Given the description of an element on the screen output the (x, y) to click on. 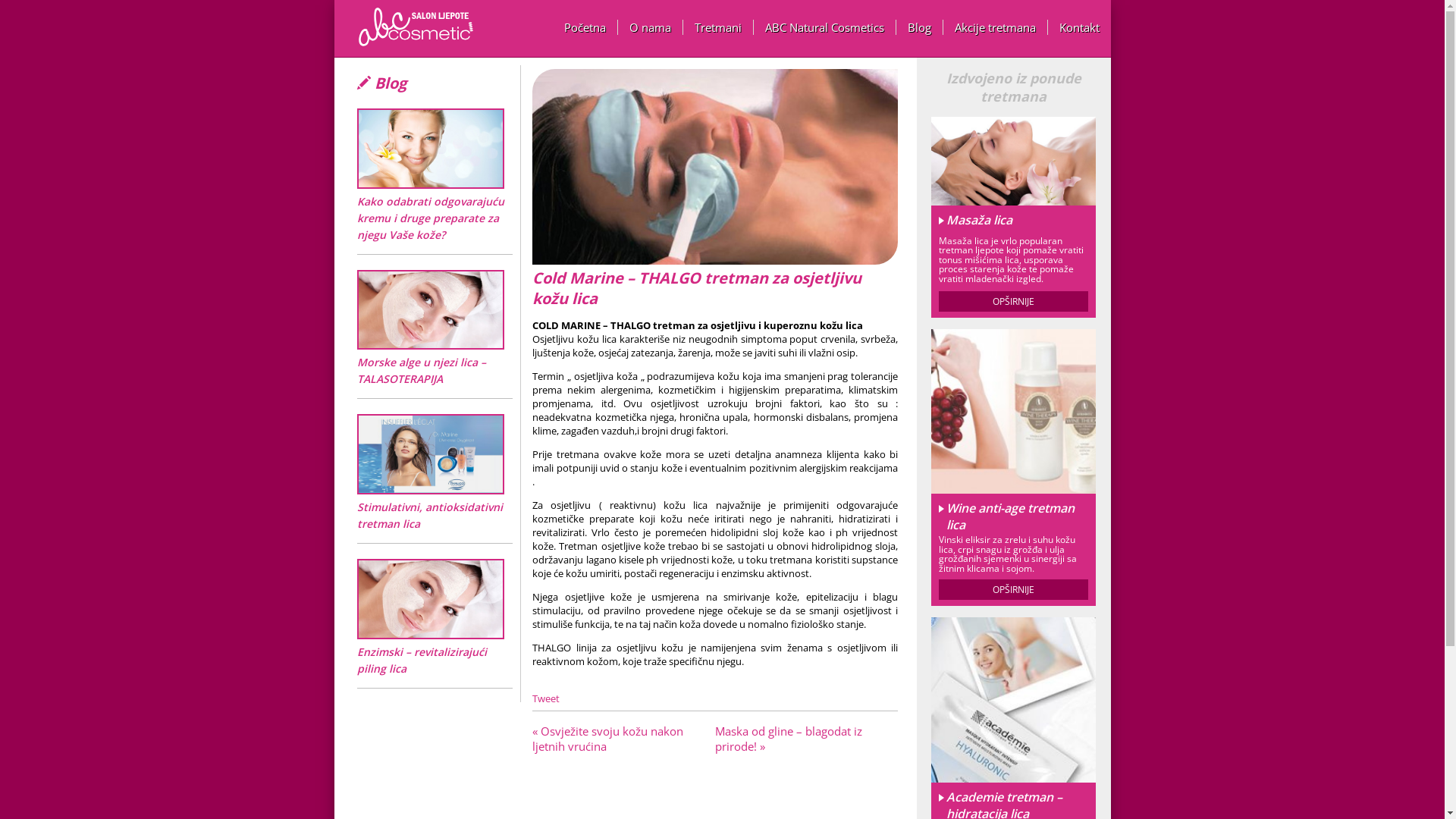
Akcije tretmana Element type: text (995, 26)
Blog Element type: text (919, 26)
Kontakt Element type: text (1079, 26)
Tweet Element type: text (545, 698)
Stimulativni, antioksidativni tretman lica Element type: text (429, 514)
O nama Element type: text (649, 26)
ABC Natural Cosmetics Element type: text (824, 26)
Tretmani Element type: text (717, 26)
